Given the description of an element on the screen output the (x, y) to click on. 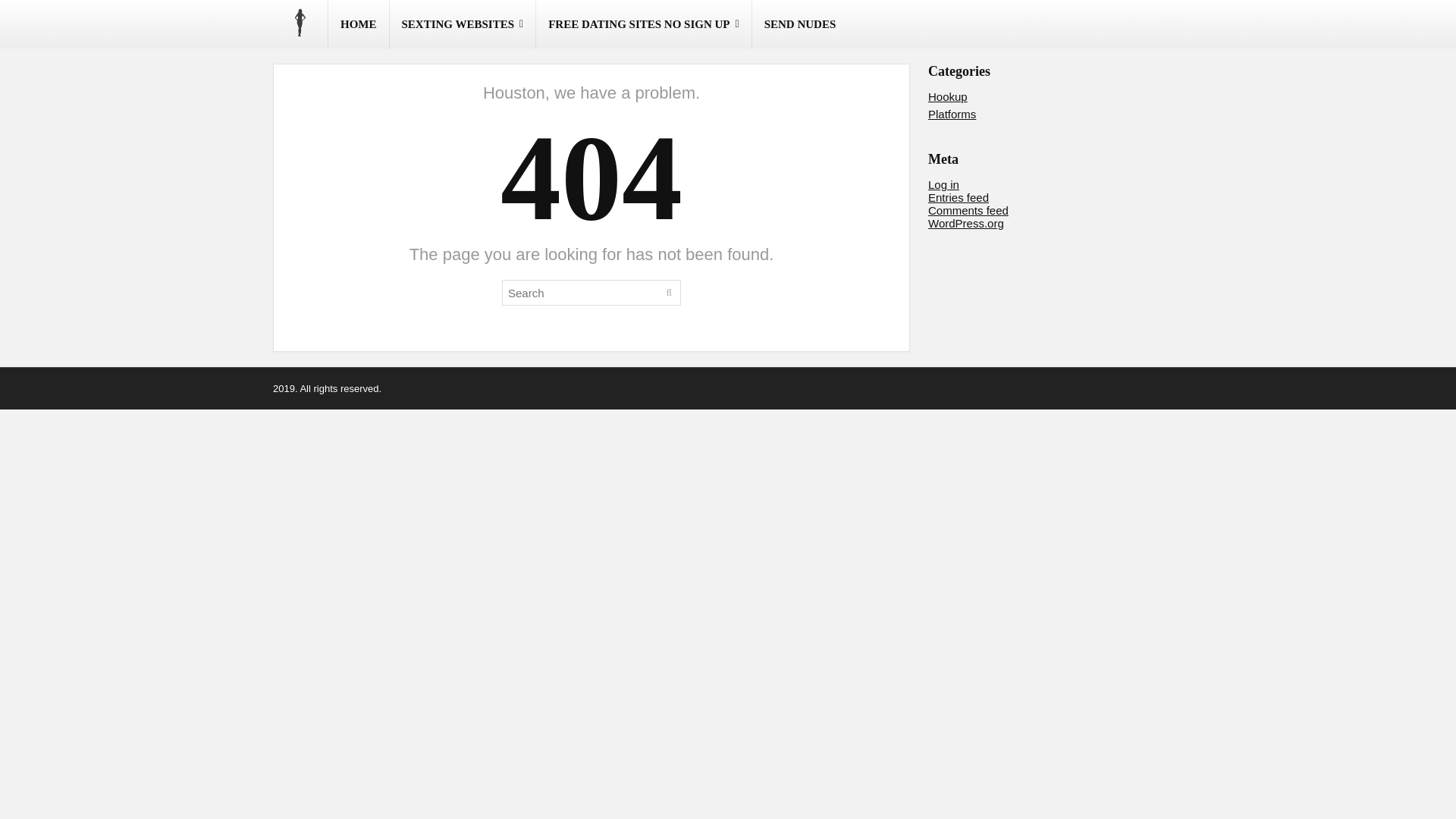
Entries feed (958, 196)
Log in (943, 184)
FREE DATING SITES NO SIGN UP (643, 24)
Comments feed (968, 210)
HOME (358, 24)
SEXTING WEBSITES (462, 24)
Platforms (951, 113)
WordPress.org (966, 223)
Hookup (948, 96)
SEND NUDES (800, 24)
